Given the description of an element on the screen output the (x, y) to click on. 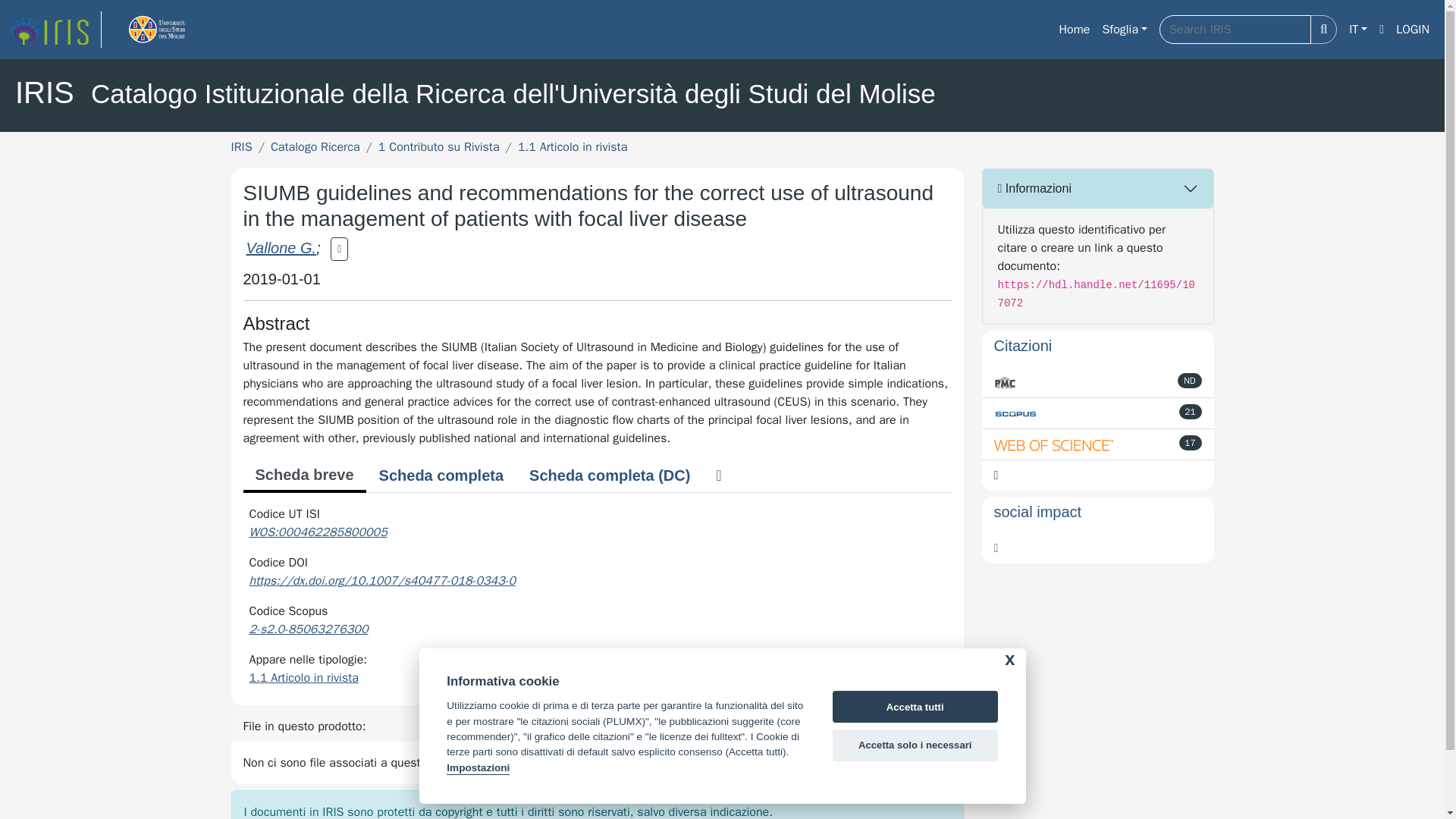
Vallone G. (280, 247)
1.1 Articolo in rivista (572, 146)
1.1 Articolo in rivista (303, 677)
Sfoglia (1124, 29)
Aiuto (1381, 29)
 Informazioni (1097, 188)
WOS:000462285800005 (317, 531)
IRIS (240, 146)
2-s2.0-85063276300 (308, 629)
aggiornato in data 12-07-2024 17:55 (1190, 411)
LOGIN (1412, 29)
IT (1357, 29)
Catalogo Ricerca (314, 146)
Home (1074, 29)
